Given the description of an element on the screen output the (x, y) to click on. 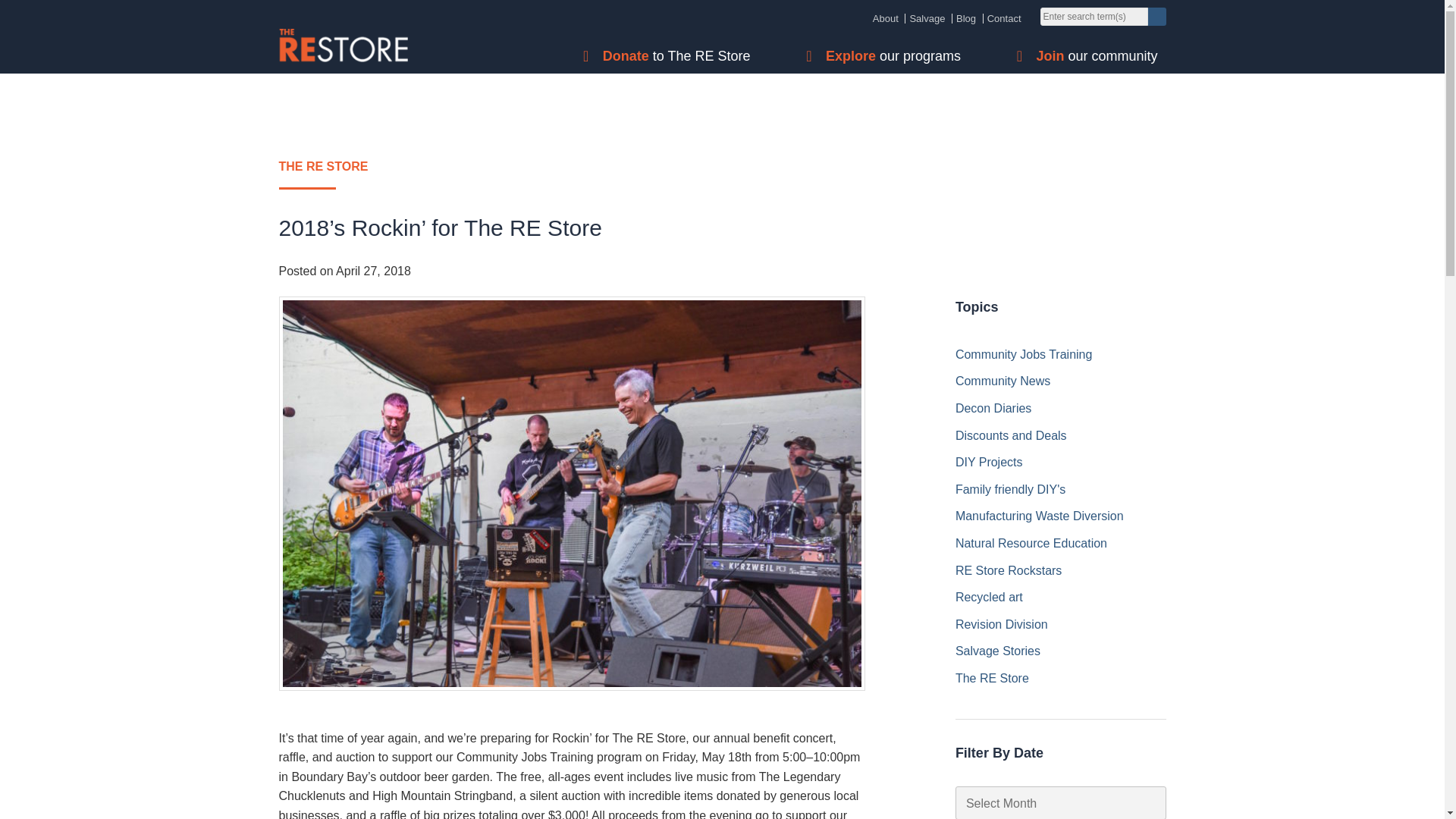
THE RE STORE (722, 172)
Explore our programs (897, 55)
Search (1157, 16)
About (885, 18)
Blog (965, 18)
Salvage (926, 18)
Contact (1004, 18)
Join our community (1100, 55)
Donate to The RE Store (680, 55)
